Given the description of an element on the screen output the (x, y) to click on. 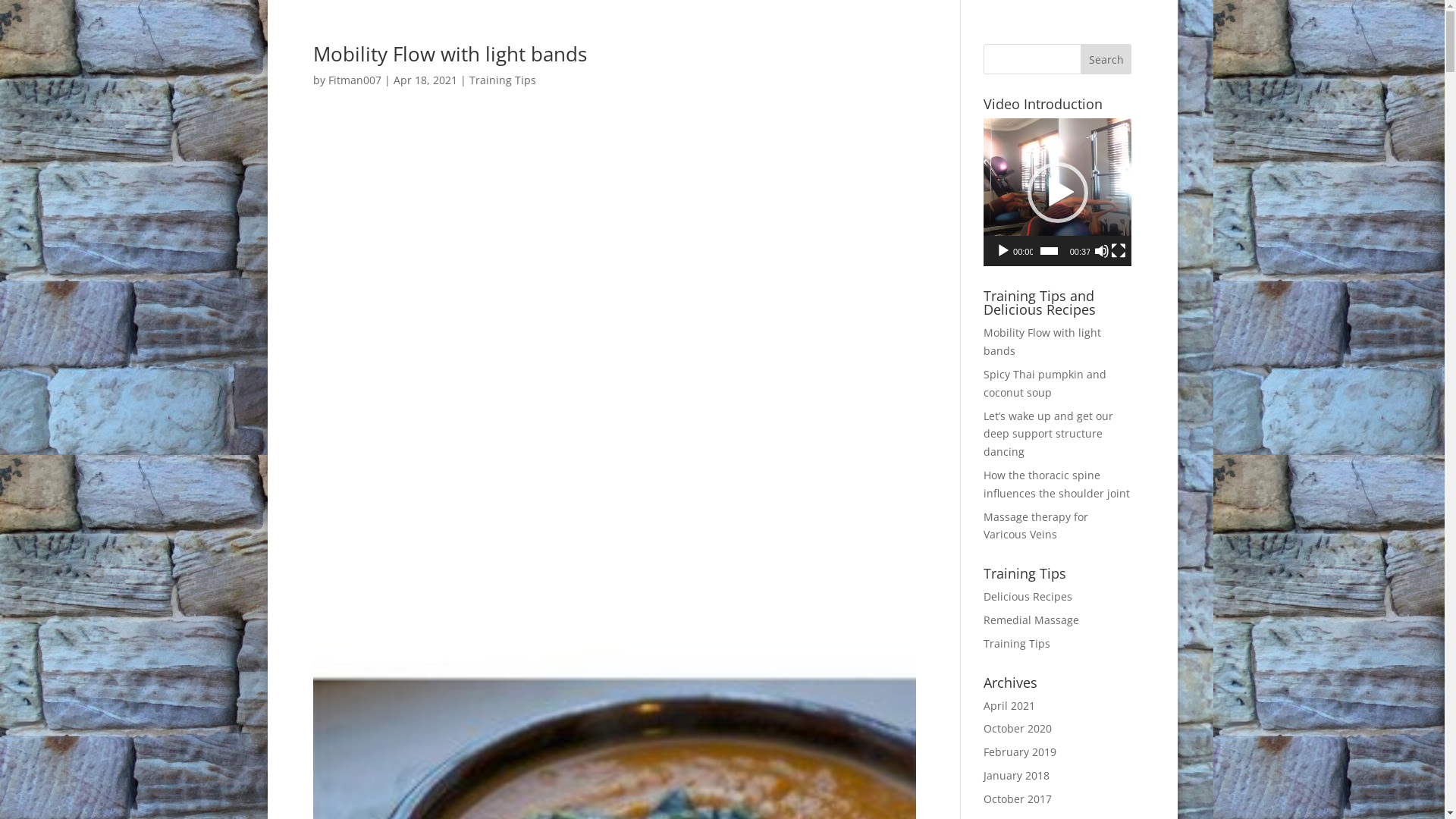
Play Element type: hover (1002, 250)
Training Tips Element type: text (501, 79)
October 2020 Element type: text (1017, 728)
Delicious Recipes Element type: text (1027, 596)
Remedial Massage Element type: text (1031, 619)
January 2018 Element type: text (1016, 775)
Mobility Flow with light bands Element type: text (449, 53)
How the thoracic spine influences the shoulder joint Element type: text (1056, 483)
February 2019 Element type: text (1019, 751)
Search Element type: text (1106, 58)
Training Tips Element type: text (1016, 643)
Mobility Flow with light bands Element type: text (1042, 341)
April 2021 Element type: text (1009, 705)
Massage therapy for Varicous Veins Element type: text (1035, 525)
Fitman007 Element type: text (353, 79)
Fullscreen Element type: hover (1118, 250)
October 2017 Element type: text (1017, 798)
Mute Element type: hover (1101, 250)
Spicy Thai pumpkin and coconut soup Element type: text (1044, 383)
Mobility flow using light bands Element type: hover (613, 331)
